Given the description of an element on the screen output the (x, y) to click on. 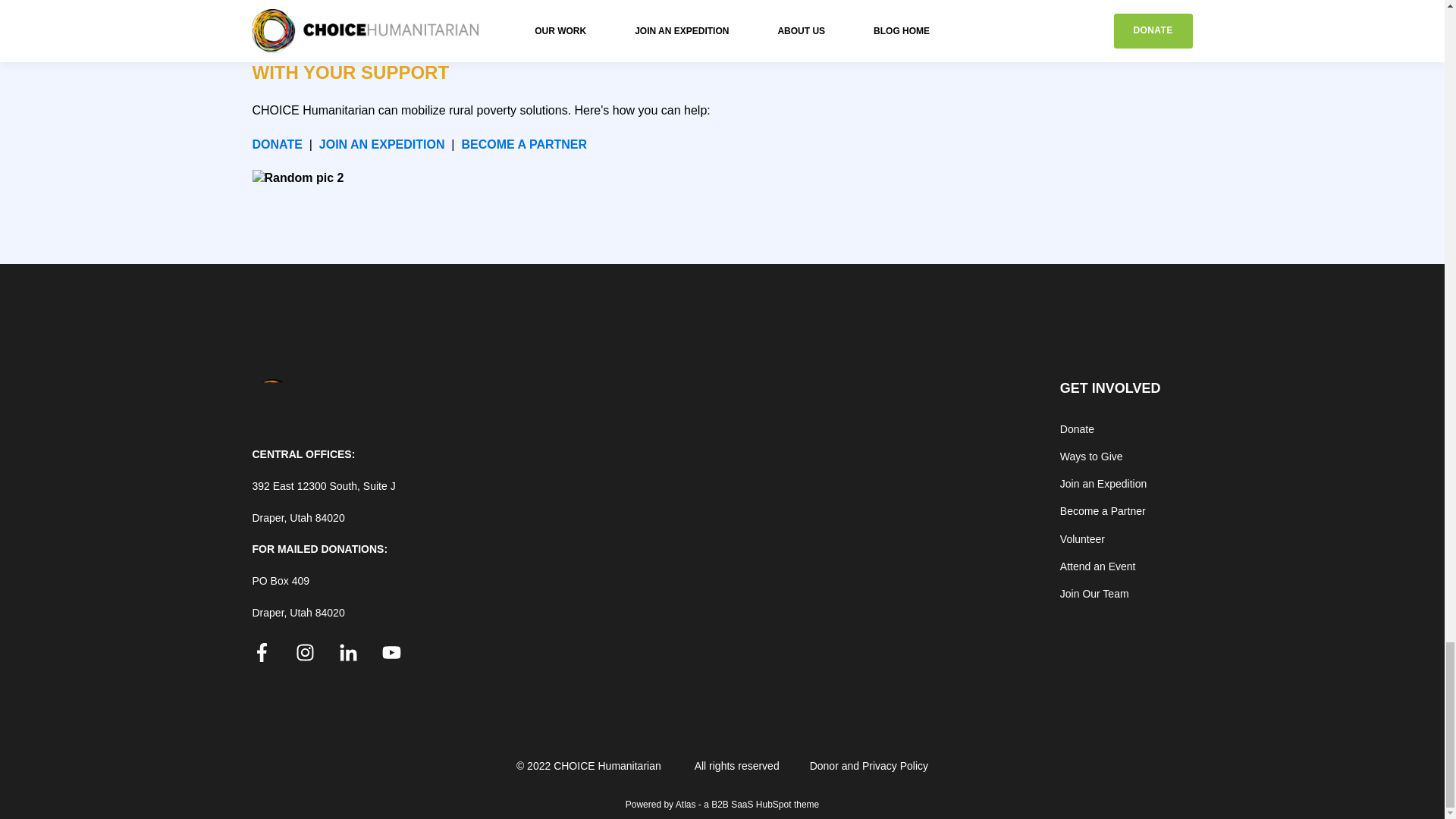
Become a Partner (1109, 511)
Donate (1109, 429)
Join Our Team (1109, 594)
JOIN AN EXPEDITION (381, 144)
DONATE (276, 144)
Powered by Atlas - a B2B SaaS HubSpot theme (722, 804)
Join an Expedition (1109, 483)
Attend an Event (1109, 566)
Donor and Privacy Policy (868, 766)
Ways to Give (1109, 456)
